Given the description of an element on the screen output the (x, y) to click on. 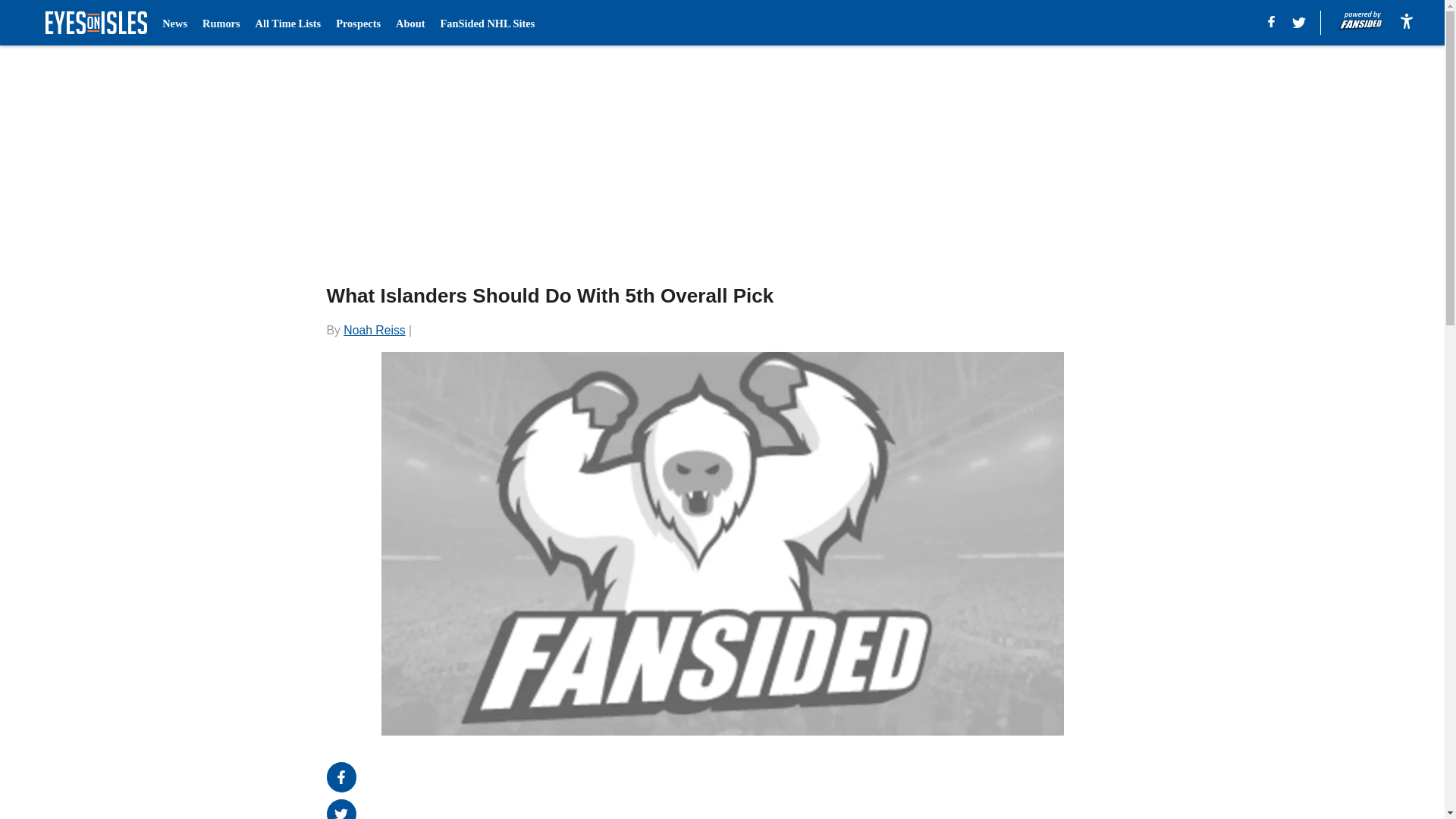
About (410, 23)
FanSided NHL Sites (486, 23)
Rumors (221, 23)
News (174, 23)
All Time Lists (288, 23)
Noah Reiss (373, 329)
Prospects (358, 23)
